Given the description of an element on the screen output the (x, y) to click on. 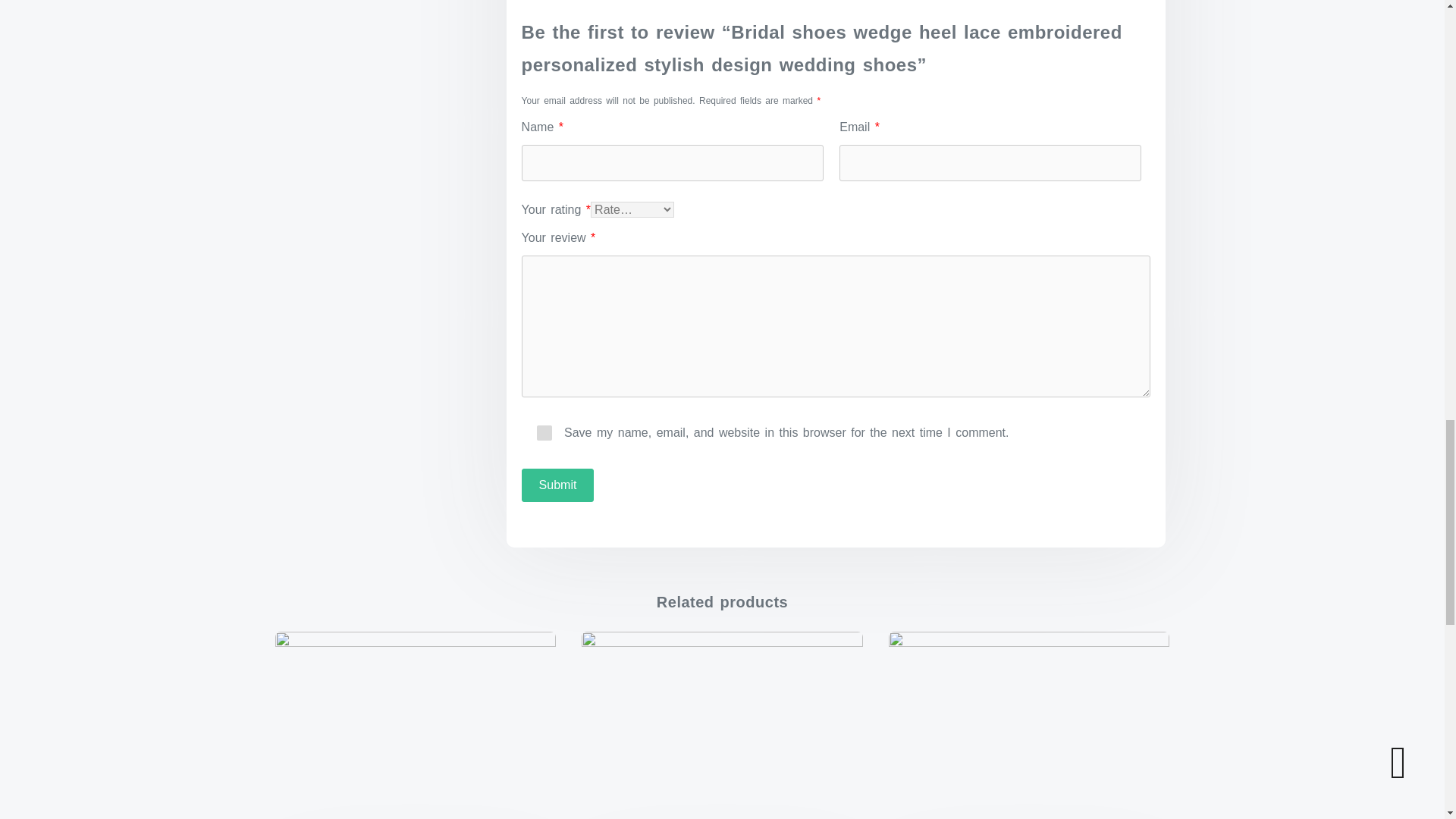
yes (544, 432)
Submit (557, 485)
Submit (557, 485)
